Given the description of an element on the screen output the (x, y) to click on. 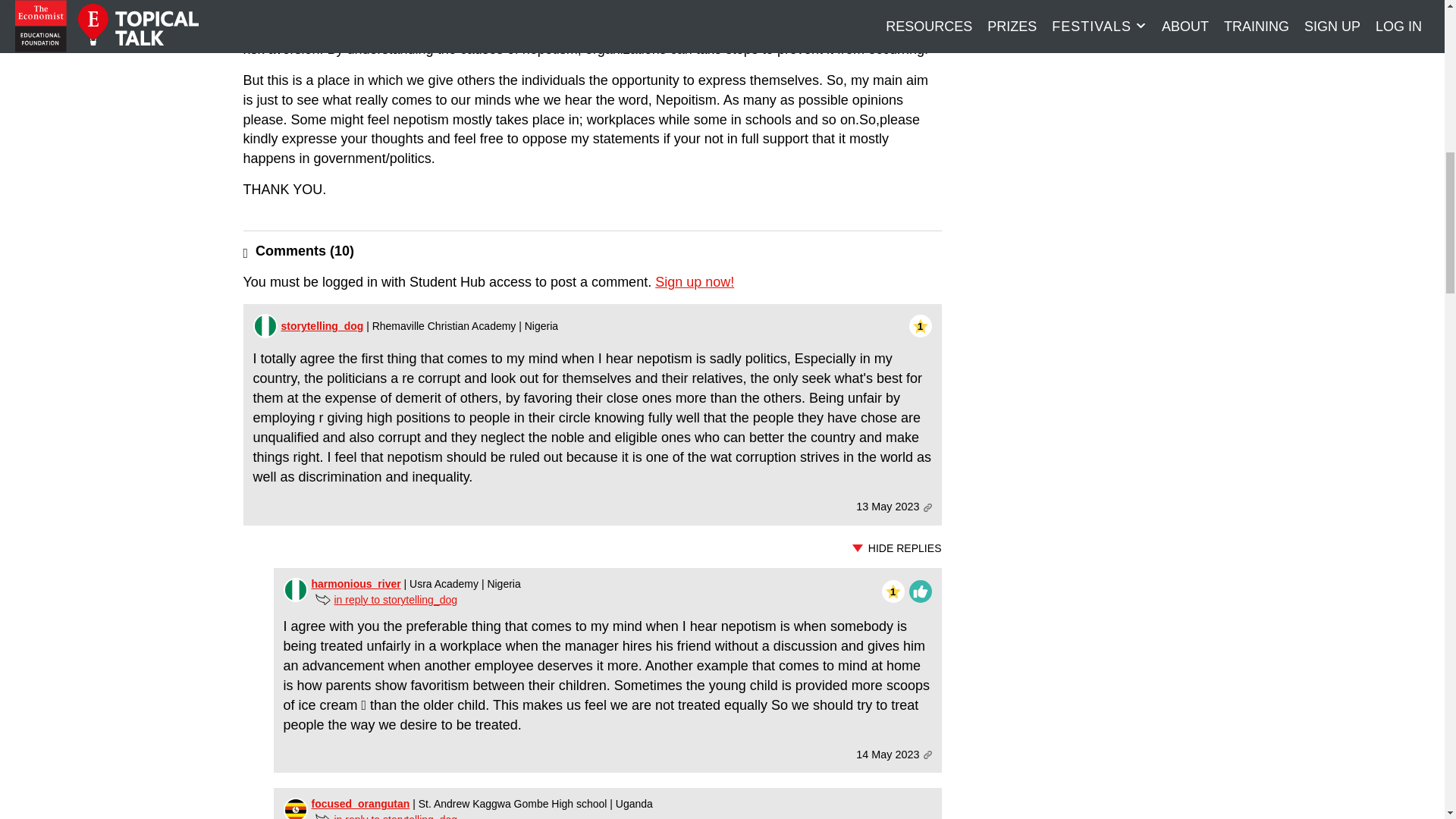
Sign up now! (694, 281)
HIDE REPLIES (591, 548)
Copy URL to clipboard (927, 755)
Copy URL to clipboard (927, 507)
